Given the description of an element on the screen output the (x, y) to click on. 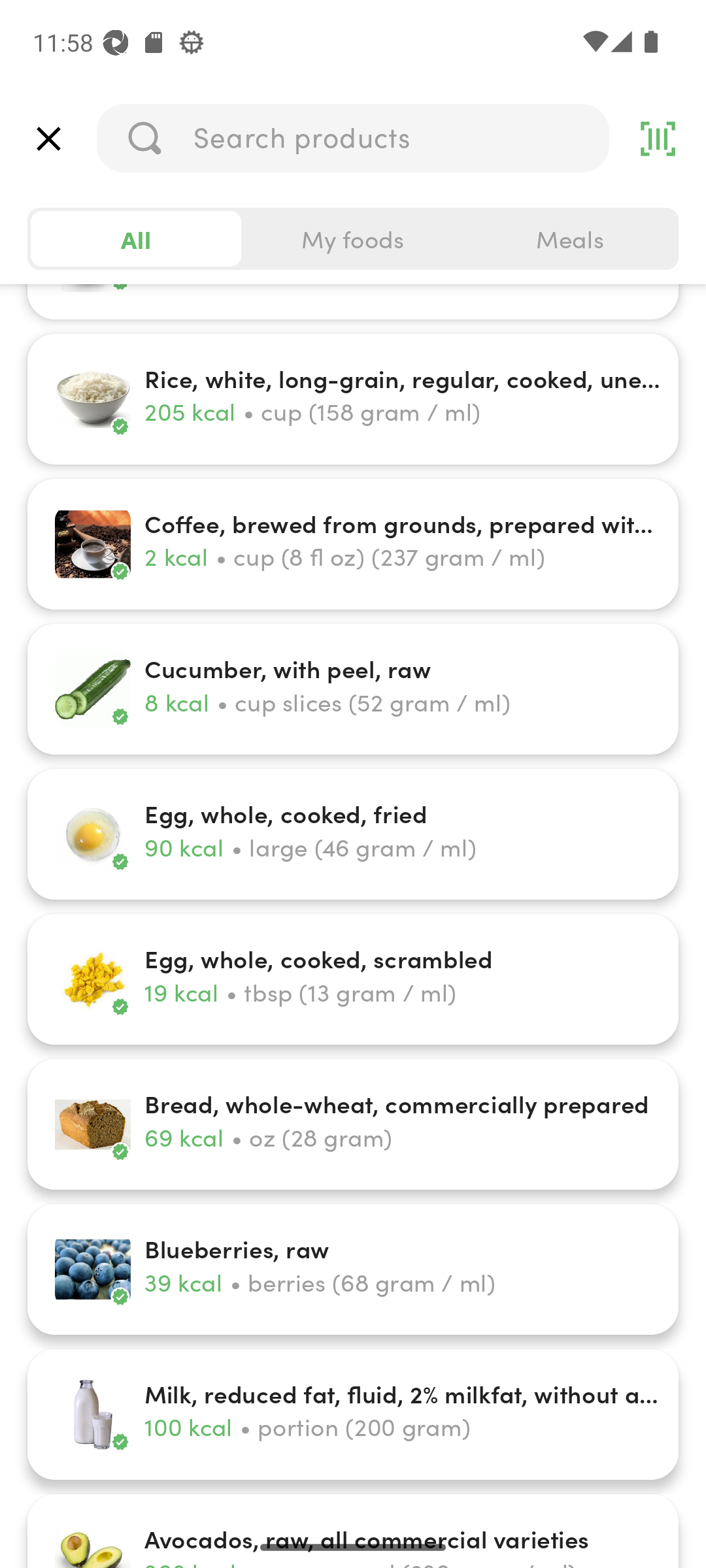
top_left_action (48, 138)
top_right_action (658, 138)
My foods (352, 238)
Meals (569, 238)
Blueberries, raw 39 kcal  • berries (68 gram / ml) (352, 1269)
